Given the description of an element on the screen output the (x, y) to click on. 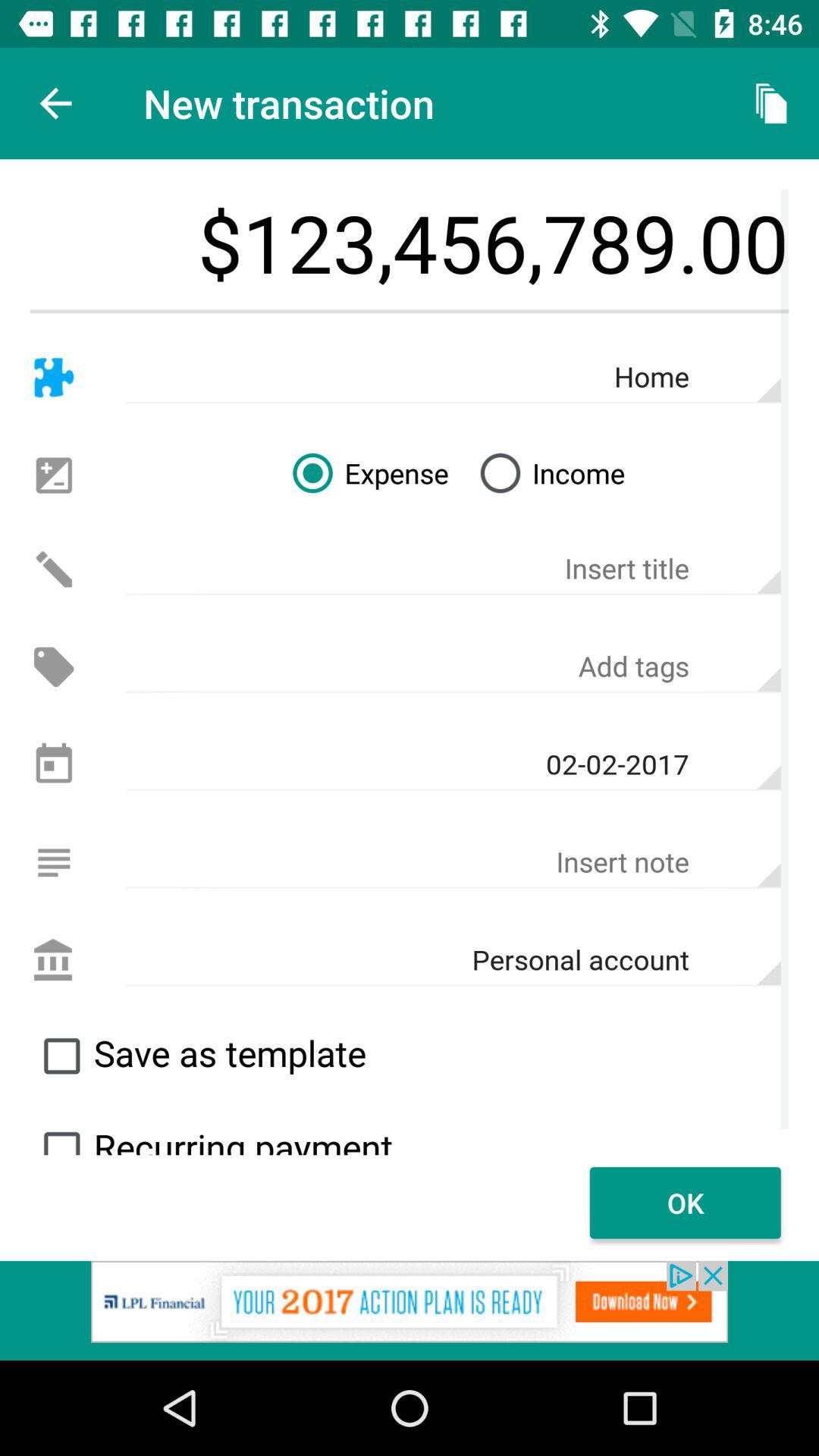
click to the personal account (53, 960)
